Given the description of an element on the screen output the (x, y) to click on. 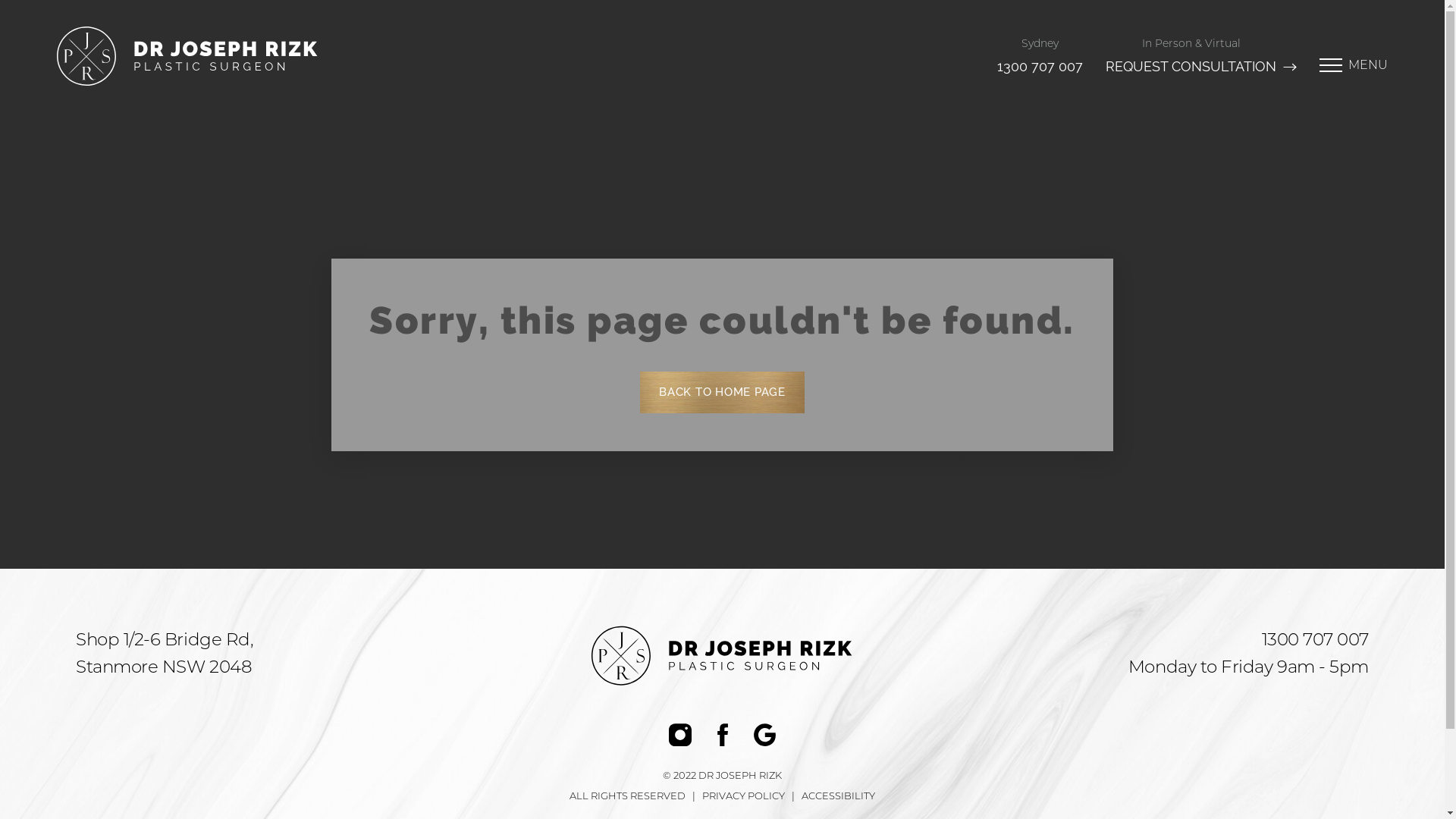
BACK TO HOME PAGE Element type: text (722, 392)
REQUEST CONSULTATION Element type: text (1200, 66)
1300 707 007 Element type: text (1039, 66)
ACCESSIBILITY Element type: text (838, 795)
PRIVACY POLICY Element type: text (743, 795)
Shop 1/2-6 Bridge Rd,
Stanmore NSW 2048 Element type: text (164, 652)
1300 707 007 Element type: text (1314, 638)
